Given the description of an element on the screen output the (x, y) to click on. 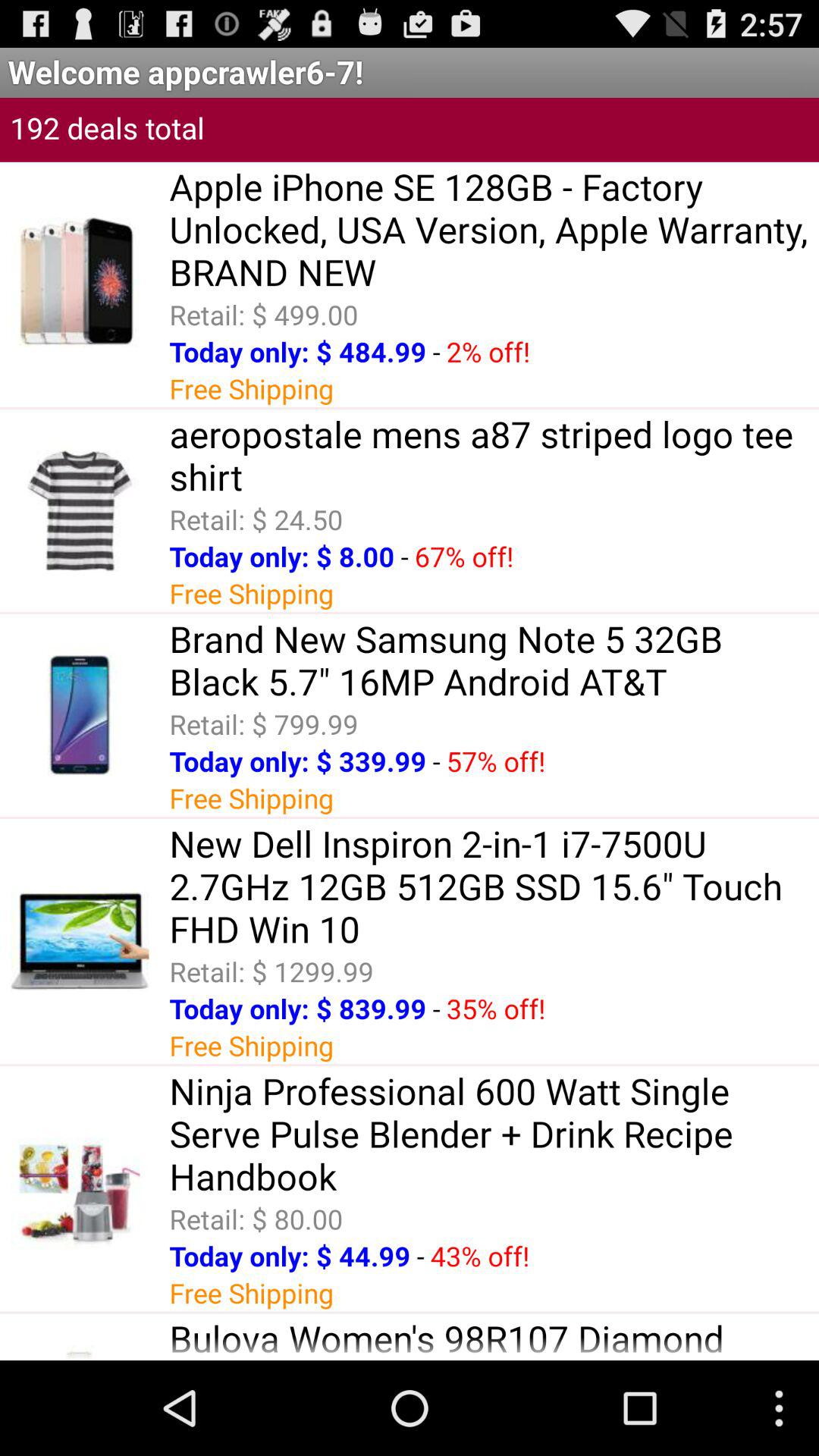
turn on item next to today only 8 icon (404, 556)
